Given the description of an element on the screen output the (x, y) to click on. 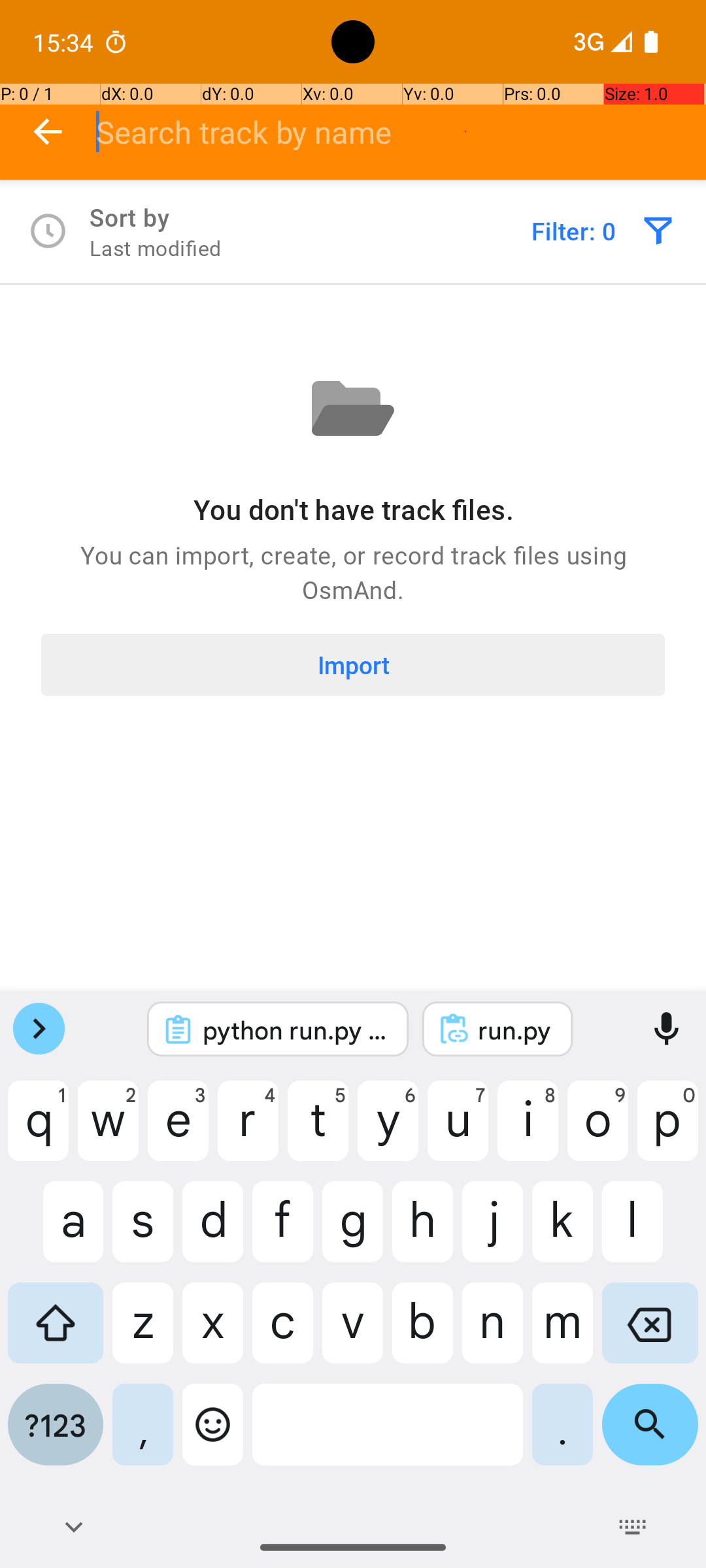
backward Element type: android.widget.ImageButton (48, 131)
Search track by name Element type: android.widget.EditText (401, 131)
You don't have track files. Element type: android.widget.TextView (352, 508)
You can import, create, or record track files using OsmAnd. Element type: android.widget.TextView (352, 572)
Last modified Element type: android.widget.TextView (155, 247)
Filter: 0 Element type: android.widget.TextView (573, 230)
Import Element type: android.widget.TextView (352, 664)
python run.py \   --suite_family=android_world \   --agent_name=t3a_gpt4 \   --perform_emulator_setup \   --tasks=ContactsAddContact,ClockStopWatchRunning \  # Optional: Just run on a subset. Element type: android.widget.TextView (294, 1029)
run.py Element type: android.widget.TextView (514, 1029)
